Given the description of an element on the screen output the (x, y) to click on. 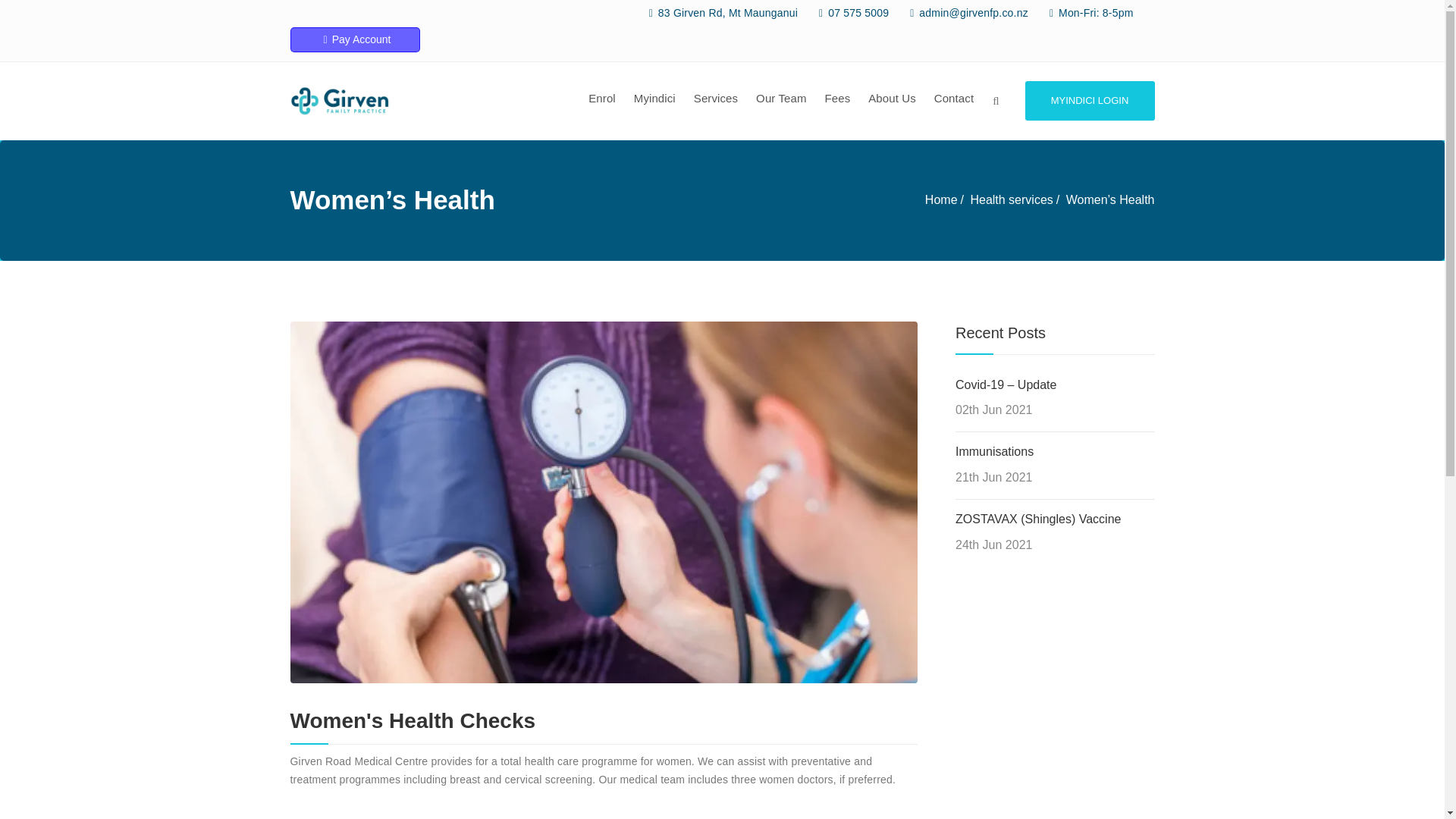
Home (941, 198)
MYINDICI LOGIN (1089, 100)
Our Team (780, 100)
Health services (1010, 198)
Immunisations (994, 451)
Pay Account (354, 39)
